Given the description of an element on the screen output the (x, y) to click on. 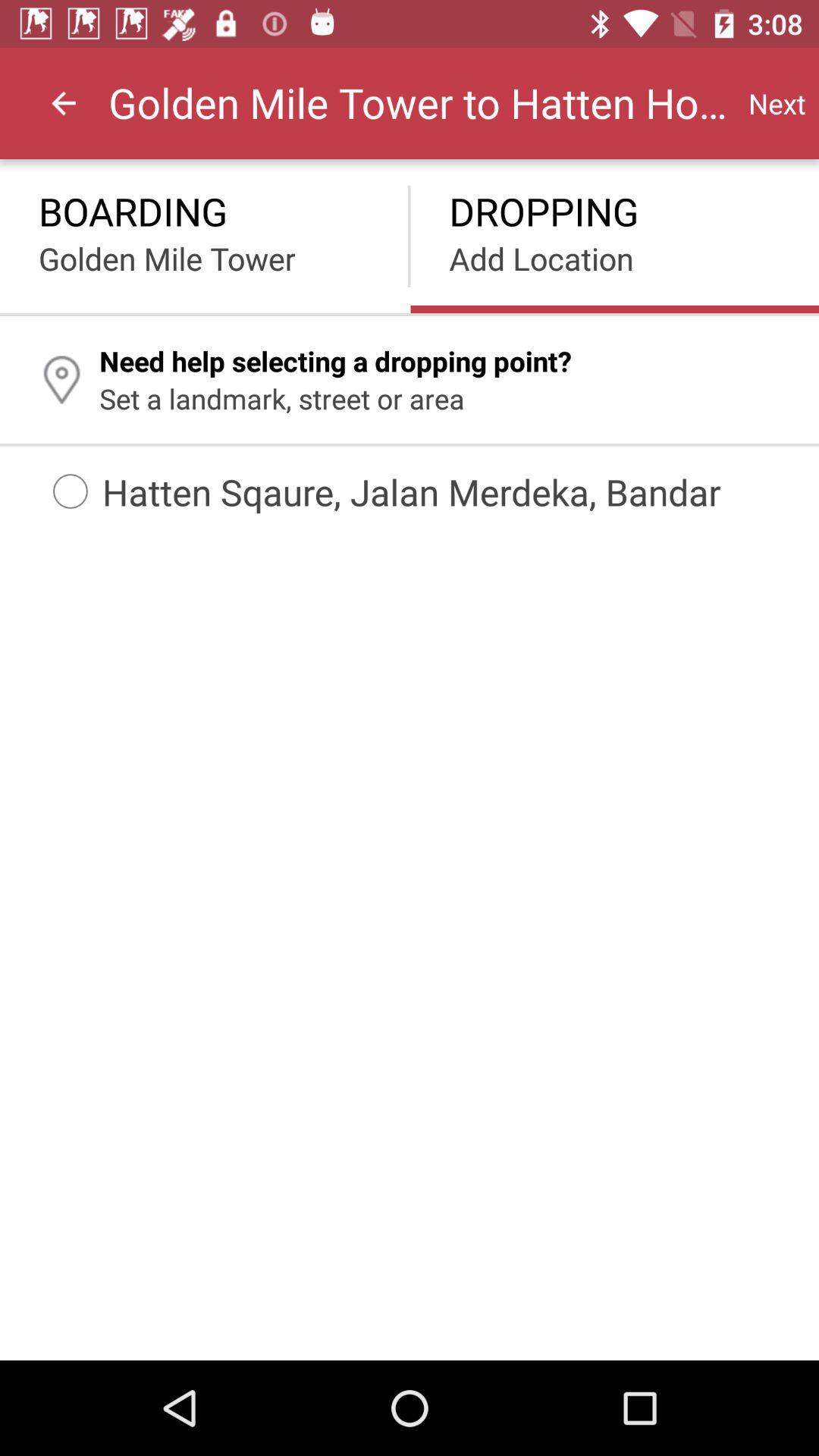
turn on the icon above the boarding item (63, 103)
